Given the description of an element on the screen output the (x, y) to click on. 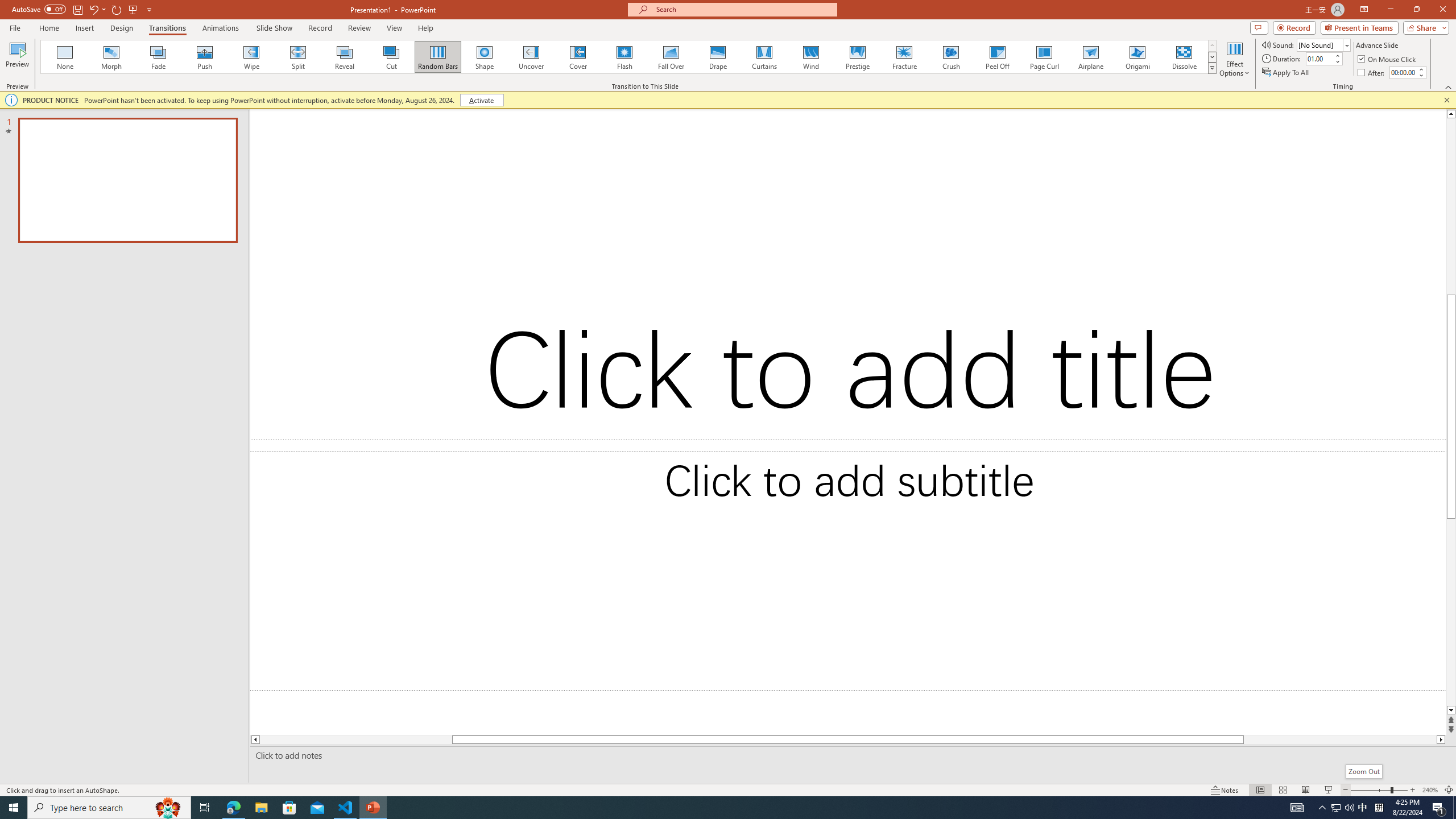
Random Bars (437, 56)
Fade (158, 56)
On Mouse Click (1387, 58)
Peel Off (997, 56)
Cover (577, 56)
Split (298, 56)
